Given the description of an element on the screen output the (x, y) to click on. 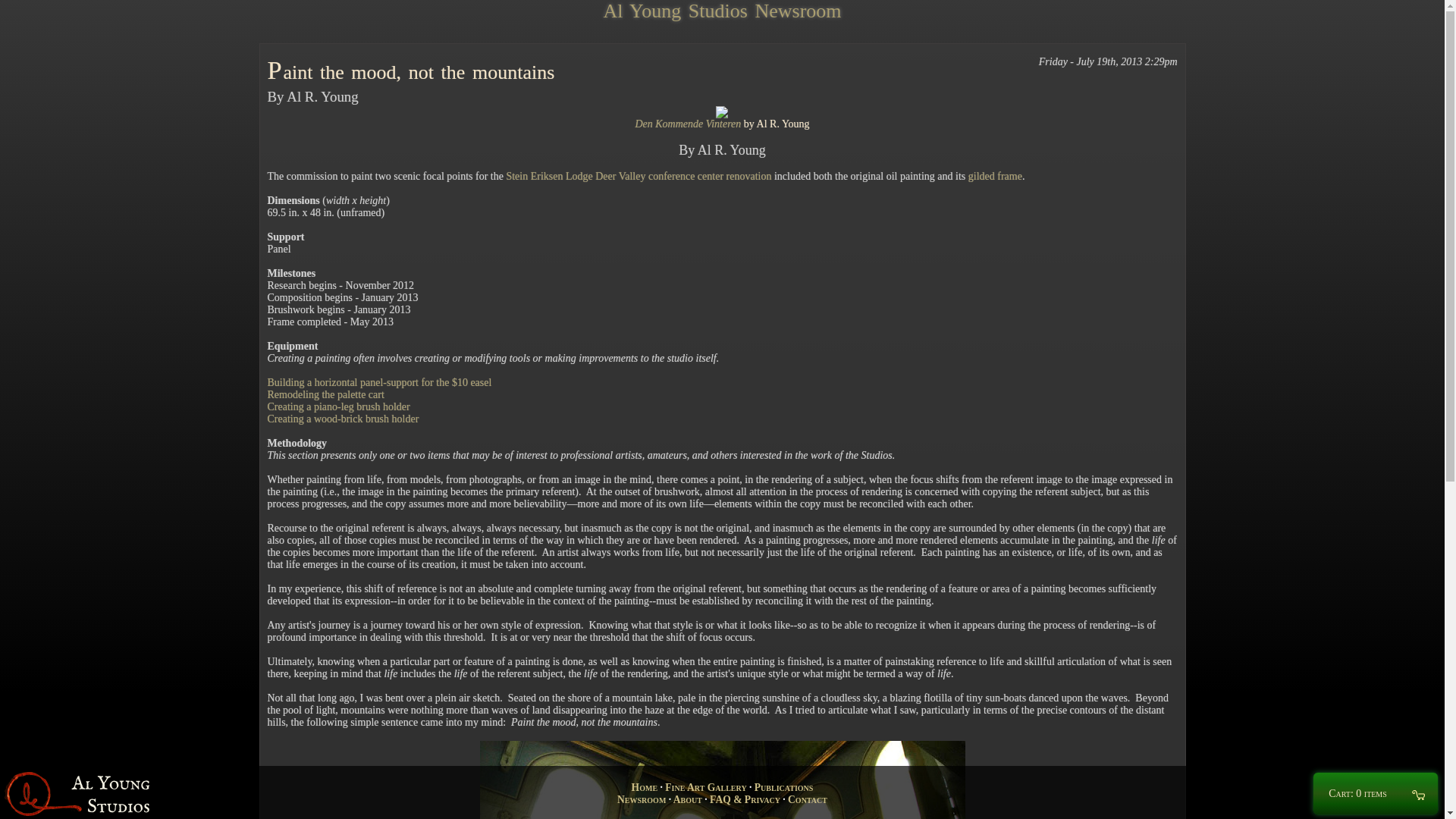
Stein Eriksen Lodge Deer Valley conference center renovation (638, 175)
Den Kommende Vinteren (687, 123)
Creating a wood-brick brush holder (342, 419)
gilded frame (995, 175)
Remodeling the palette cart (325, 394)
Creating a piano-leg brush holder (337, 406)
Al Young Studios Newsroom (721, 11)
